Given the description of an element on the screen output the (x, y) to click on. 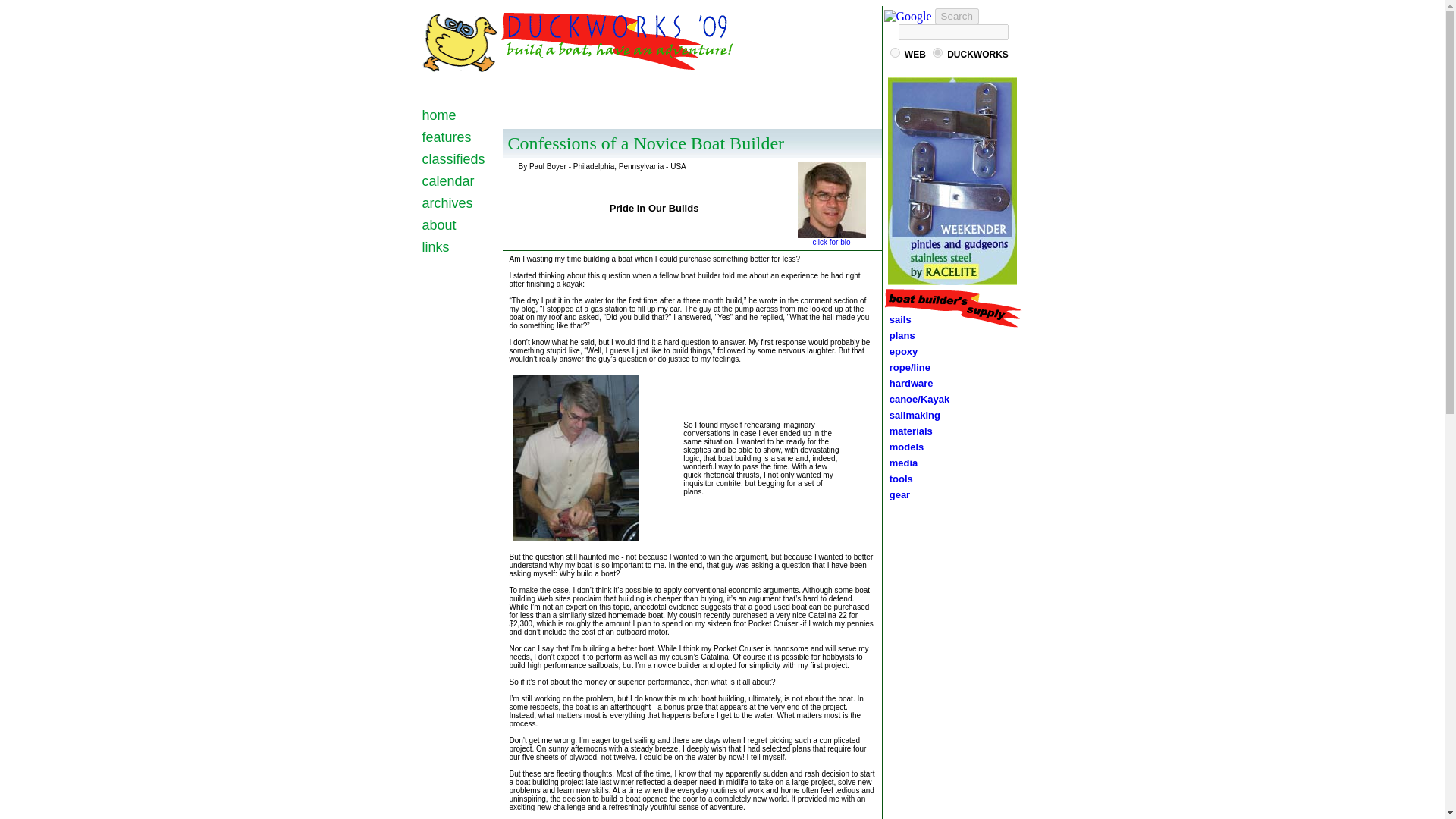
sails (900, 319)
  plans (899, 335)
click for bio (831, 238)
links (435, 246)
archives (446, 202)
Search duckworksmagazine.com (978, 54)
  gear (897, 494)
Search the Web (915, 54)
Advertisement (691, 103)
classifieds (453, 159)
  epoxy (900, 351)
duckworksmagazine.com (937, 52)
about (438, 224)
models (906, 446)
Search (956, 16)
